Given the description of an element on the screen output the (x, y) to click on. 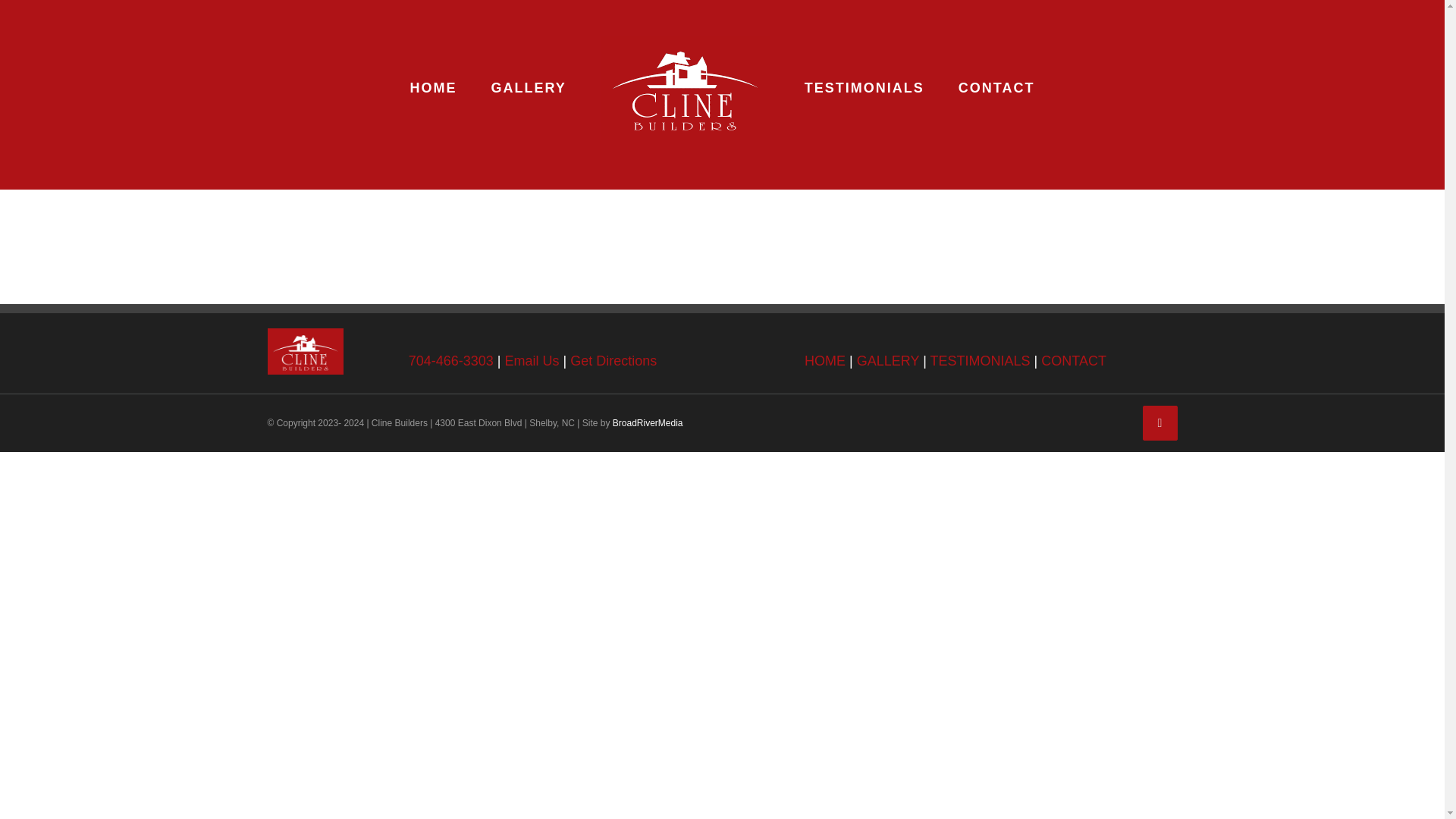
HOME (825, 360)
Facebook (1158, 422)
GALLERY (887, 360)
704-466-3303 (451, 360)
TESTIMONIALS (980, 360)
BroadRiverMedia (647, 422)
Email Us (532, 360)
CONTACT (1073, 360)
Facebook (1158, 422)
GALLERY (529, 87)
